Given the description of an element on the screen output the (x, y) to click on. 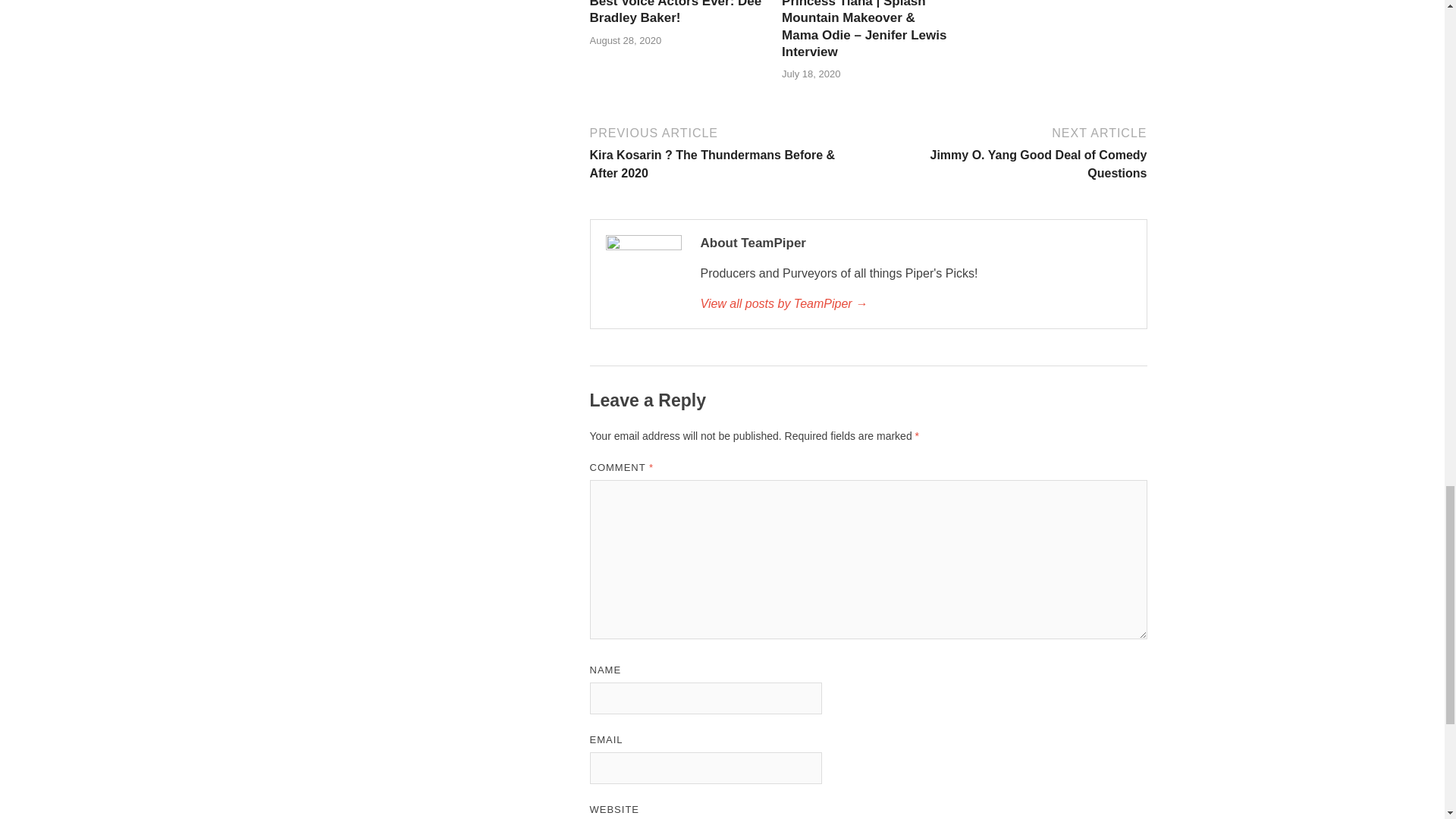
TeamPiper (915, 303)
Best Voice Actors Ever: Dee Bradley Baker! (675, 12)
Best Voice Actors Ever: Dee Bradley Baker! (675, 12)
